Given the description of an element on the screen output the (x, y) to click on. 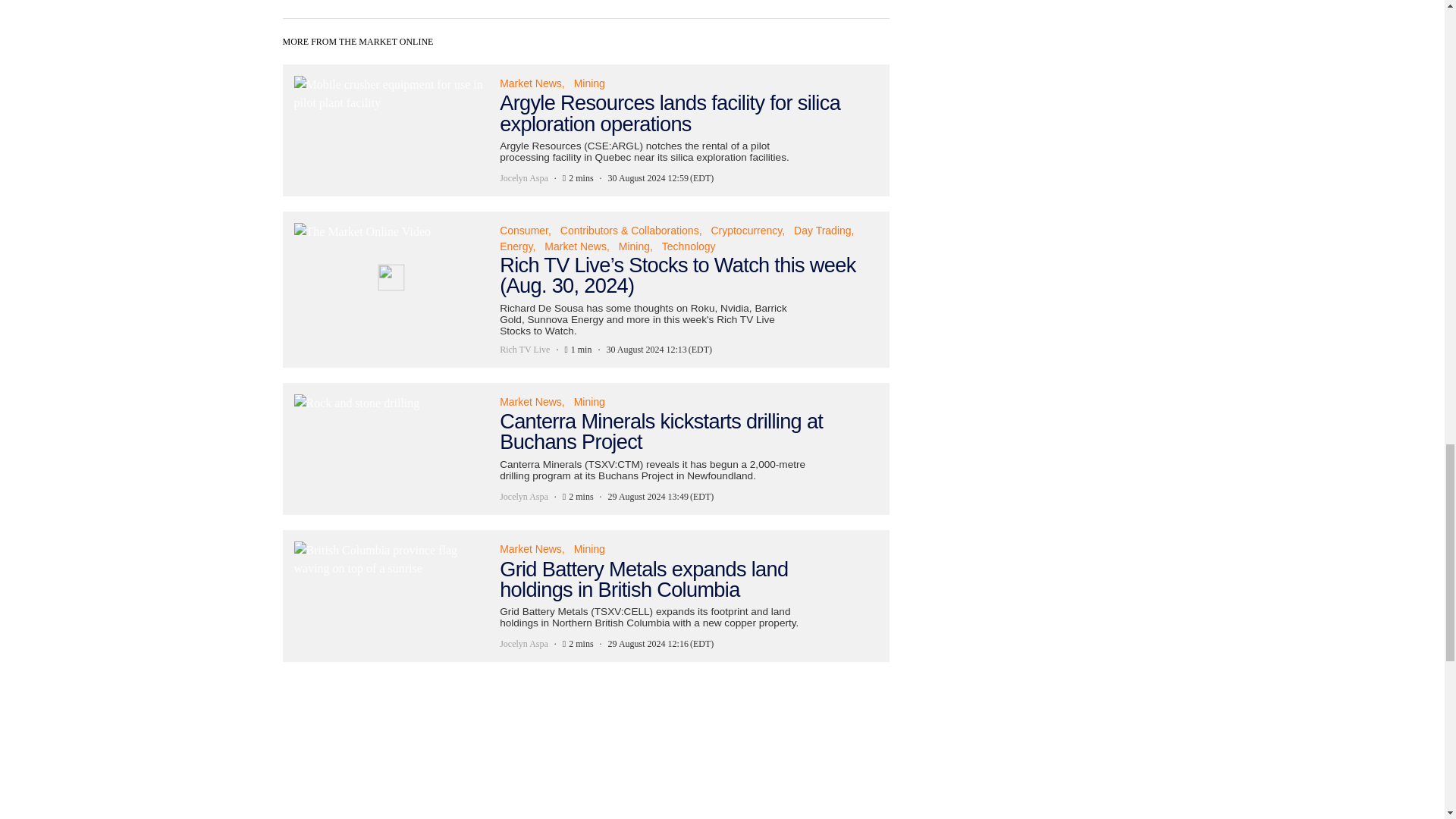
View all posts by Jocelyn Aspa (523, 496)
Canterra Minerals kickstarts drilling at Buchans Project (585, 448)
View all posts by Jocelyn Aspa (523, 643)
View all posts by Jocelyn Aspa (523, 178)
View all posts by Rich TV Live (524, 349)
